Given the description of an element on the screen output the (x, y) to click on. 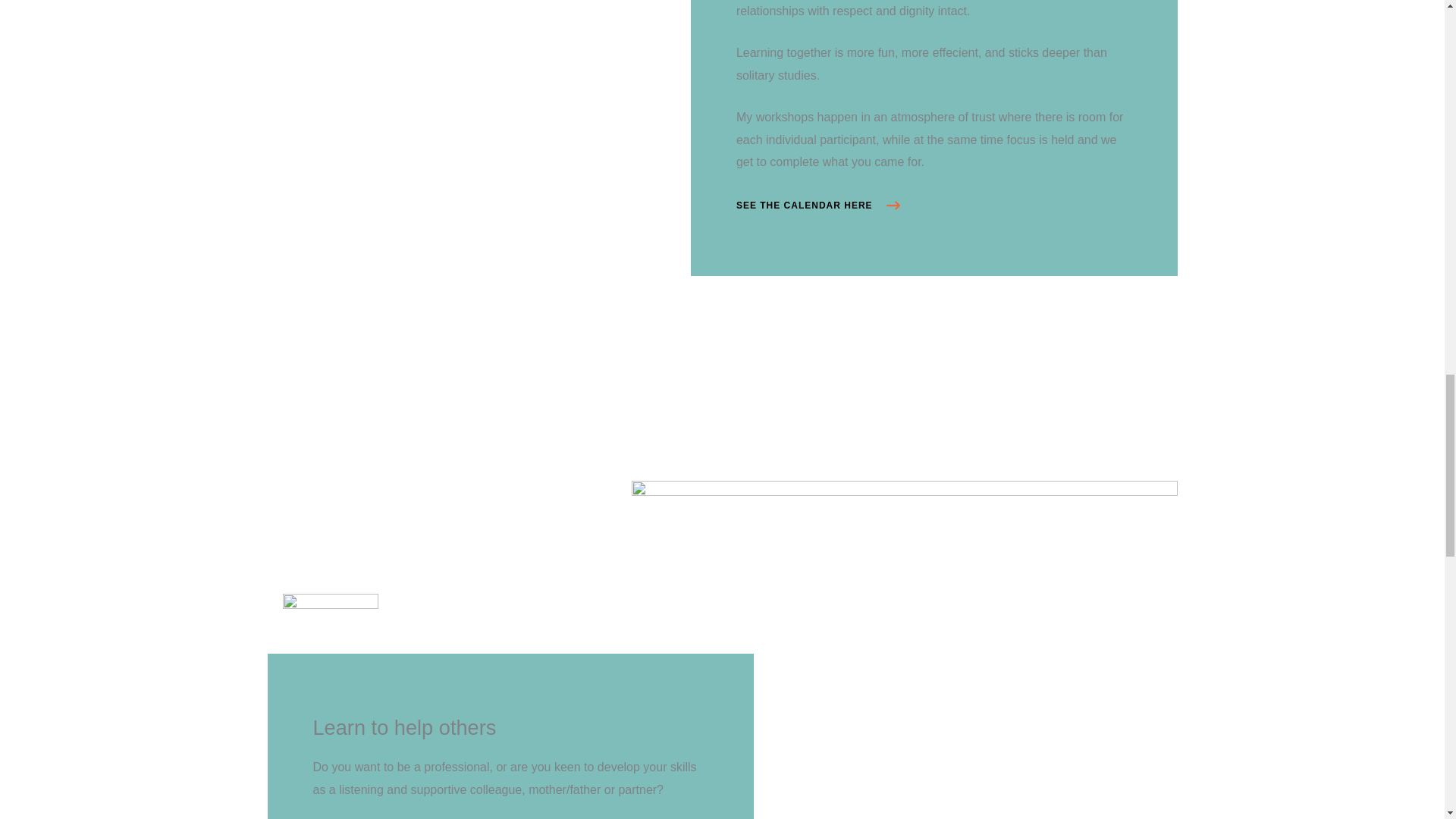
SEE THE CALENDAR HERE (817, 205)
